Given the description of an element on the screen output the (x, y) to click on. 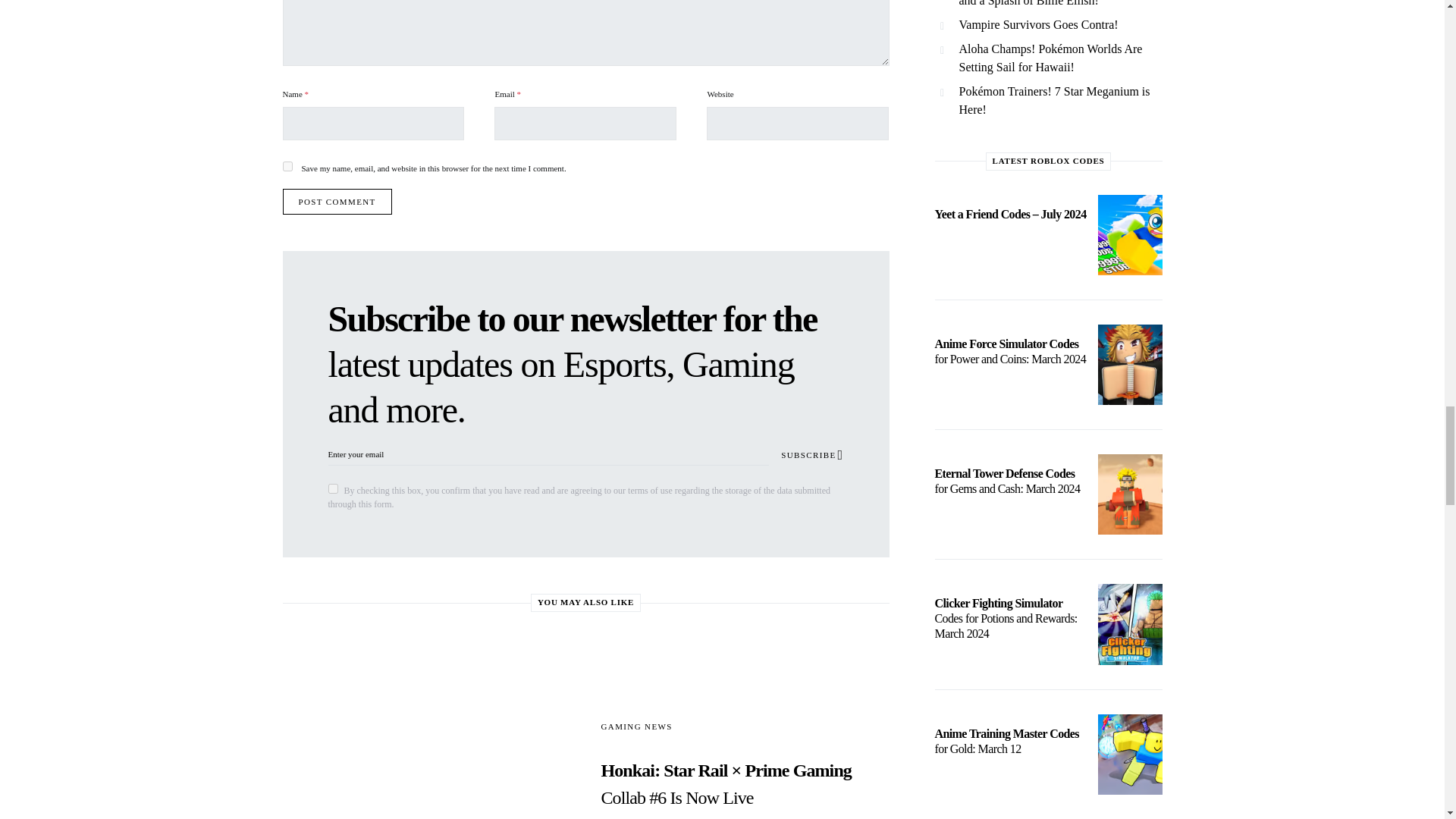
yes (287, 166)
on (332, 488)
Post Comment (336, 202)
